Given the description of an element on the screen output the (x, y) to click on. 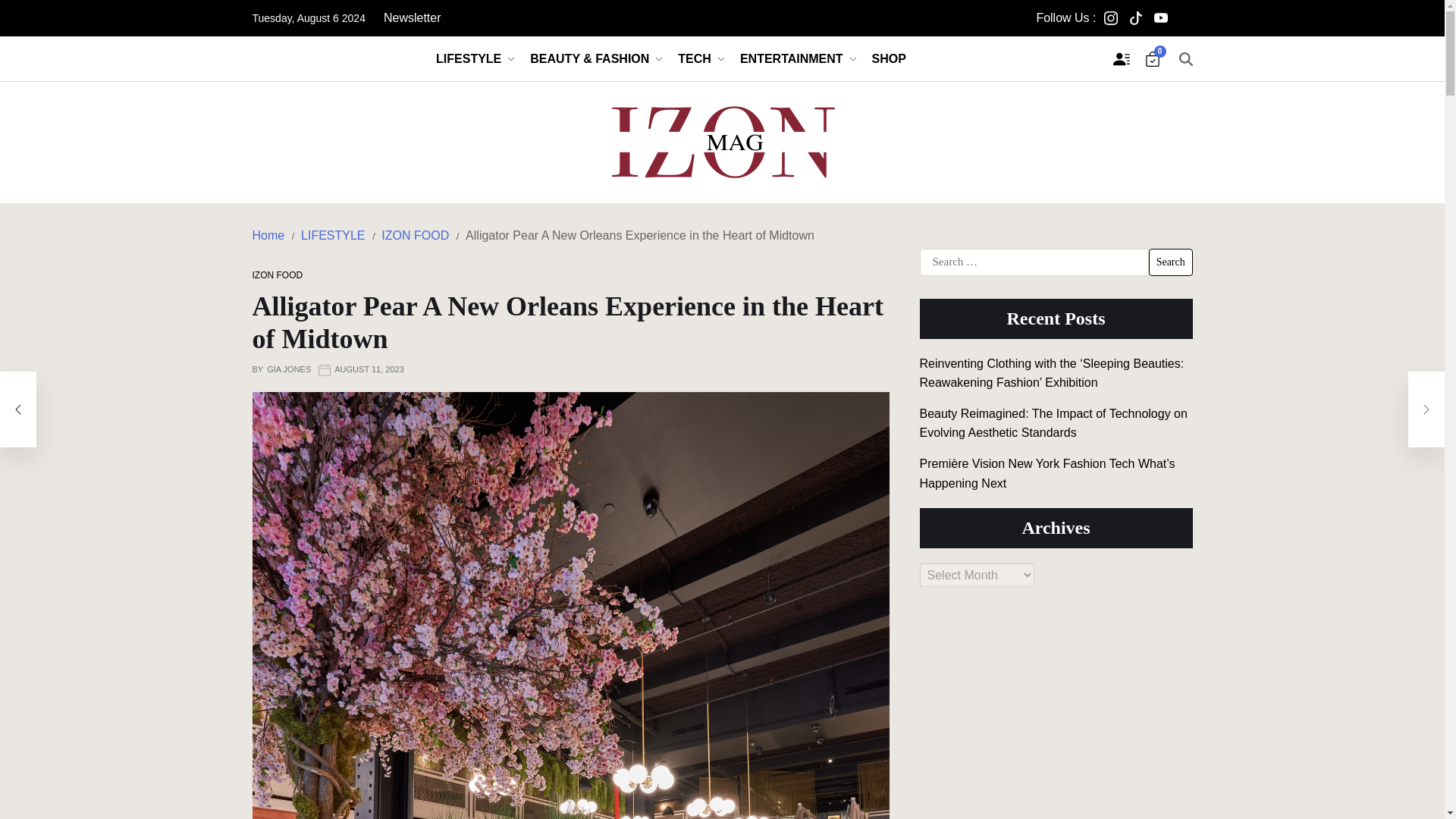
Search (1170, 262)
Search (1170, 262)
IZON FOOD (414, 235)
ENTERTAINMENT (798, 58)
0 (1152, 58)
Home (267, 235)
Newsletter (412, 17)
LIFESTYLE (333, 235)
LIFESTYLE (475, 58)
IZON FOOD (276, 275)
TECH (701, 58)
GIA JONES (288, 369)
Search (1170, 262)
